Given the description of an element on the screen output the (x, y) to click on. 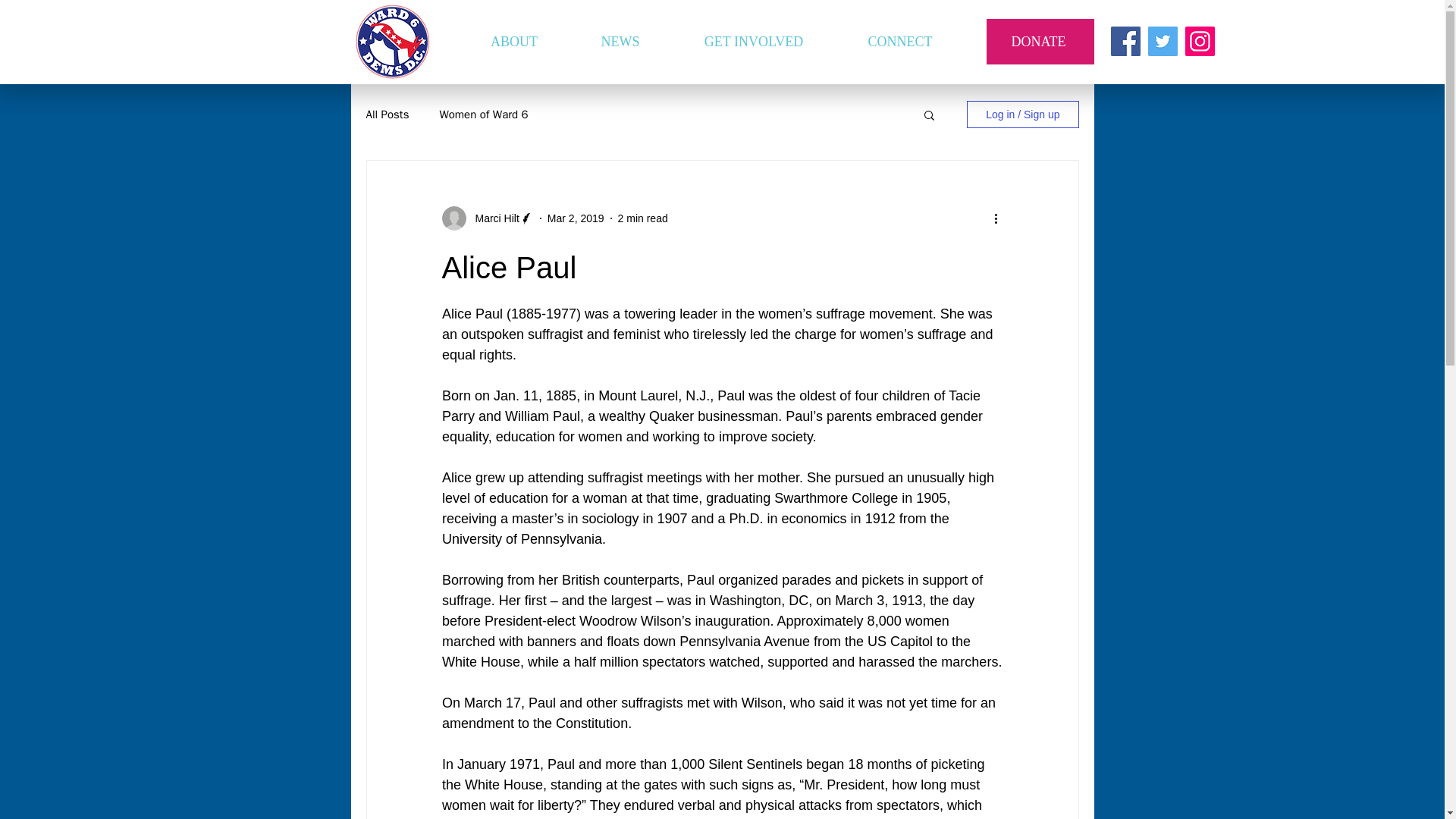
Mar 2, 2019 (575, 218)
2 min read (642, 218)
DONATE (1039, 41)
Marci Hilt (491, 218)
Women of Ward 6 (483, 114)
All Posts (387, 114)
